Given the description of an element on the screen output the (x, y) to click on. 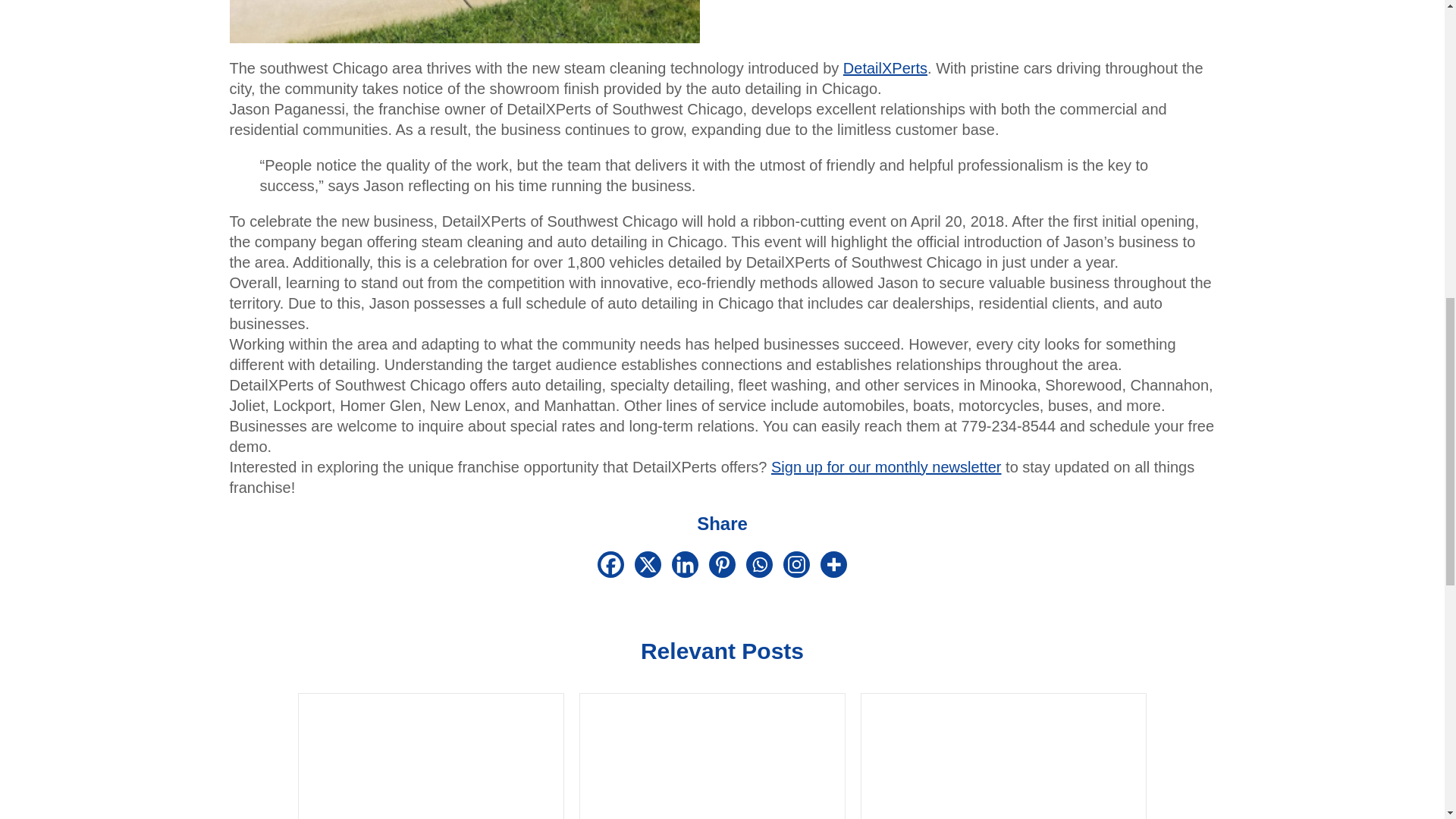
Whatsapp (759, 564)
Pinterest (722, 564)
Facebook (610, 564)
X (647, 564)
More (834, 564)
Instagram (796, 564)
Linkedin (684, 564)
